Given the description of an element on the screen output the (x, y) to click on. 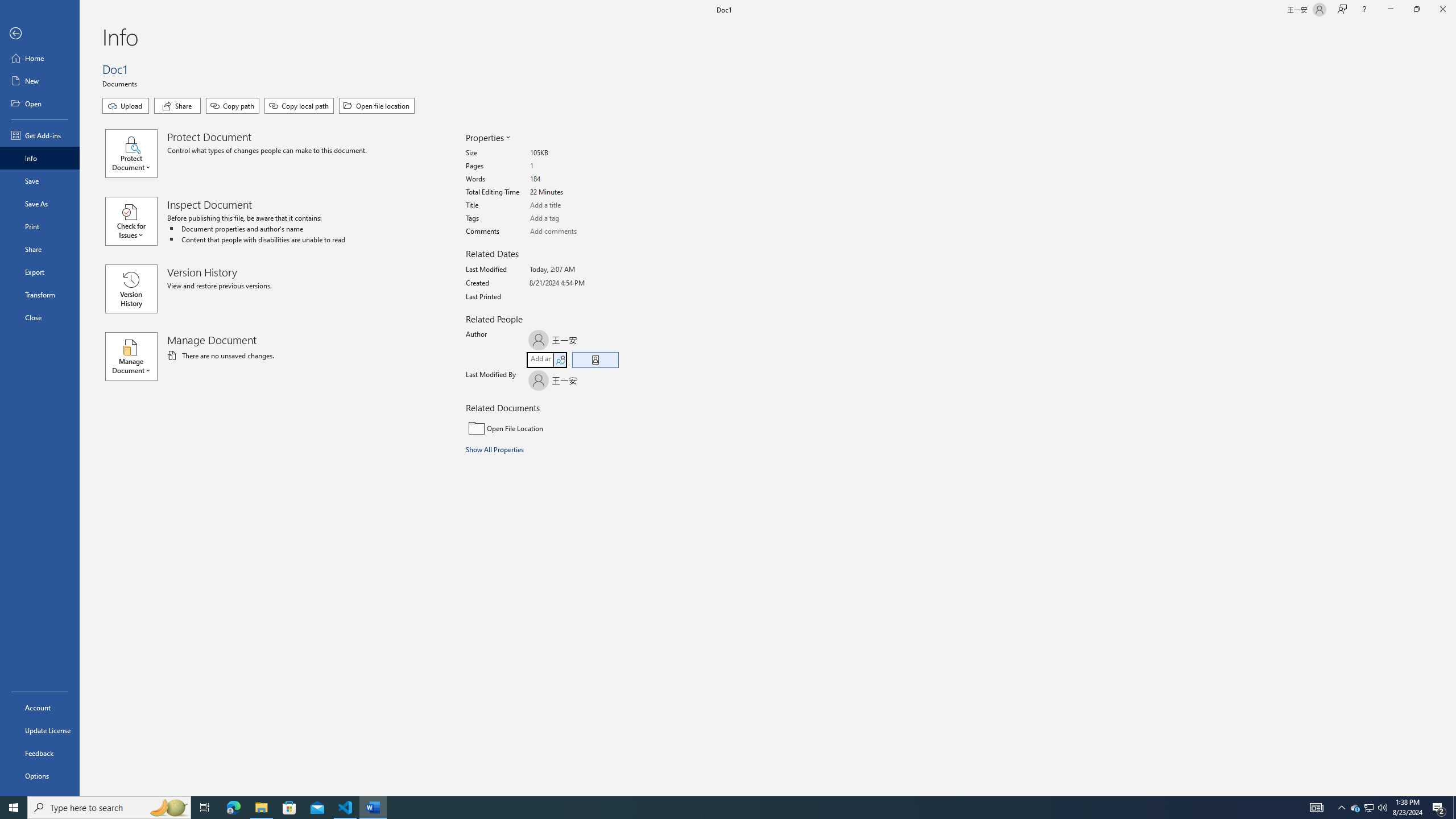
Transform (40, 294)
Info (40, 157)
Print (40, 225)
Words (572, 179)
Documents (120, 83)
Browse Address Book (595, 359)
Get Add-ins (40, 134)
Check for Issues (135, 220)
Upload (124, 105)
Size (572, 153)
